Given the description of an element on the screen output the (x, y) to click on. 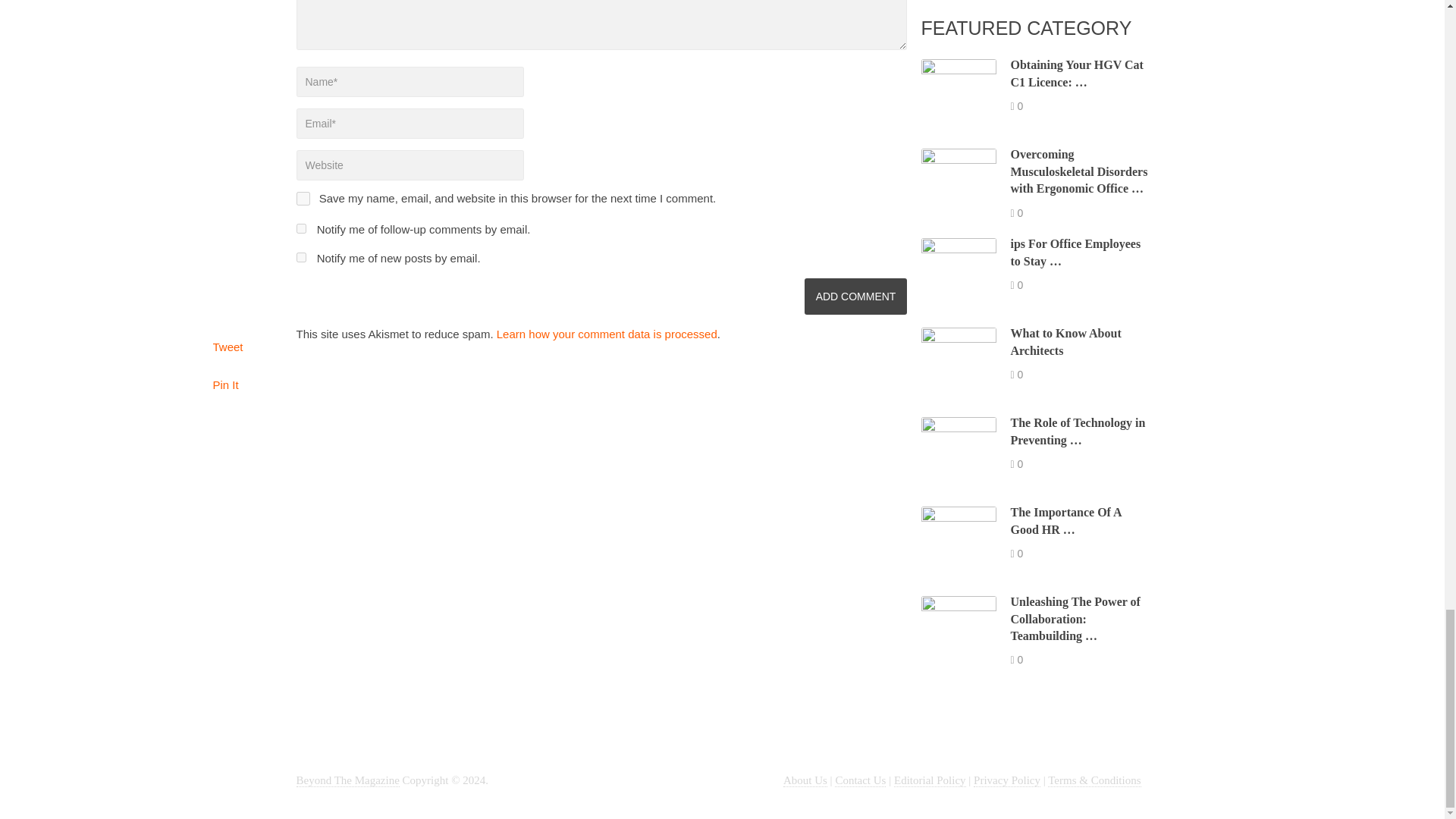
Add Comment (856, 296)
subscribe (300, 228)
subscribe (300, 257)
yes (301, 198)
